Given the description of an element on the screen output the (x, y) to click on. 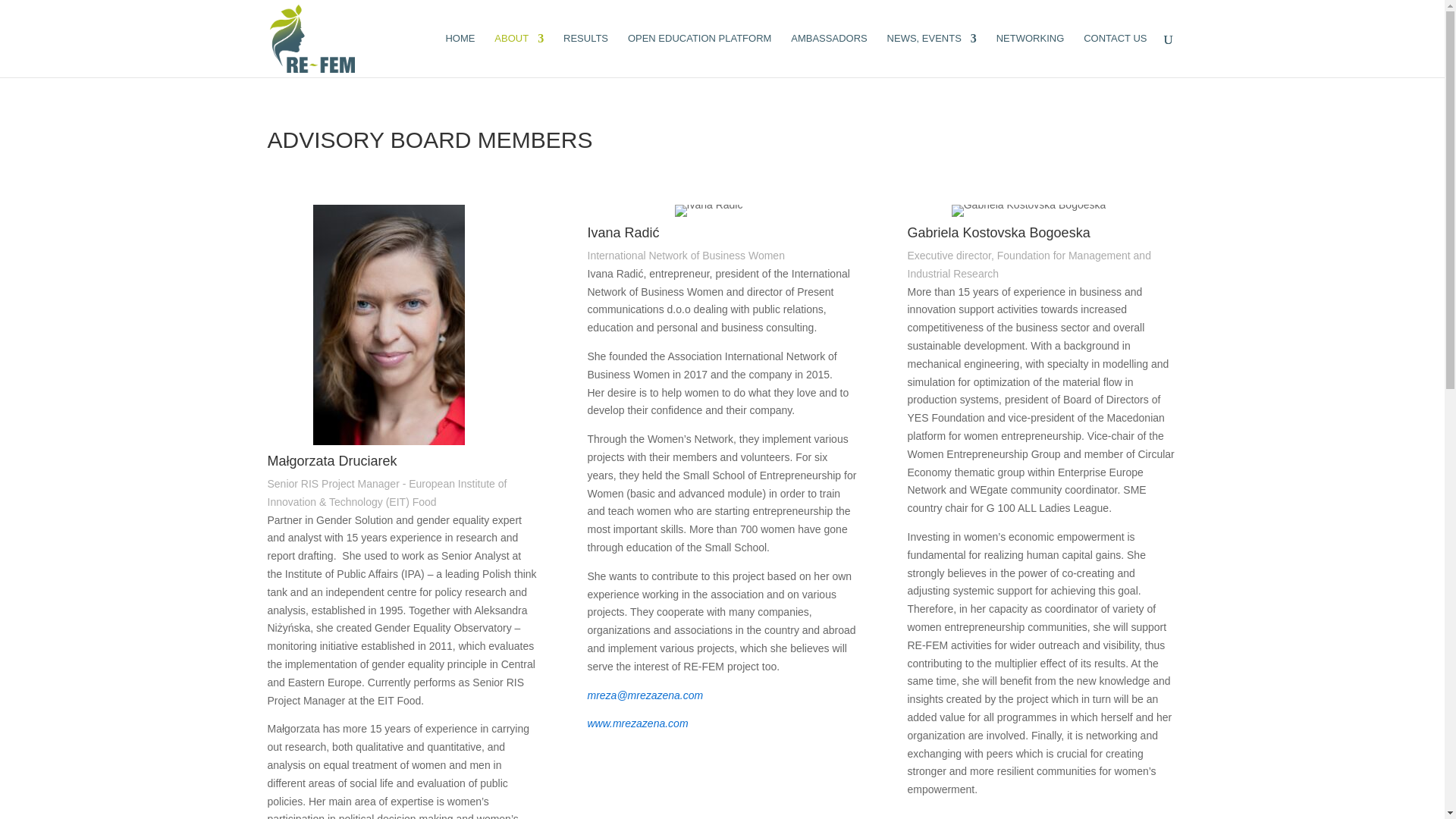
HOME (459, 54)
ABOUT (519, 54)
NEWS, EVENTS (931, 54)
NETWORKING (1029, 54)
www.mrezazena.com (636, 723)
OPEN EDUCATION PLATFORM (699, 54)
RESULTS (585, 54)
AMBASSADORS (828, 54)
CONTACT US (1115, 54)
